Given the description of an element on the screen output the (x, y) to click on. 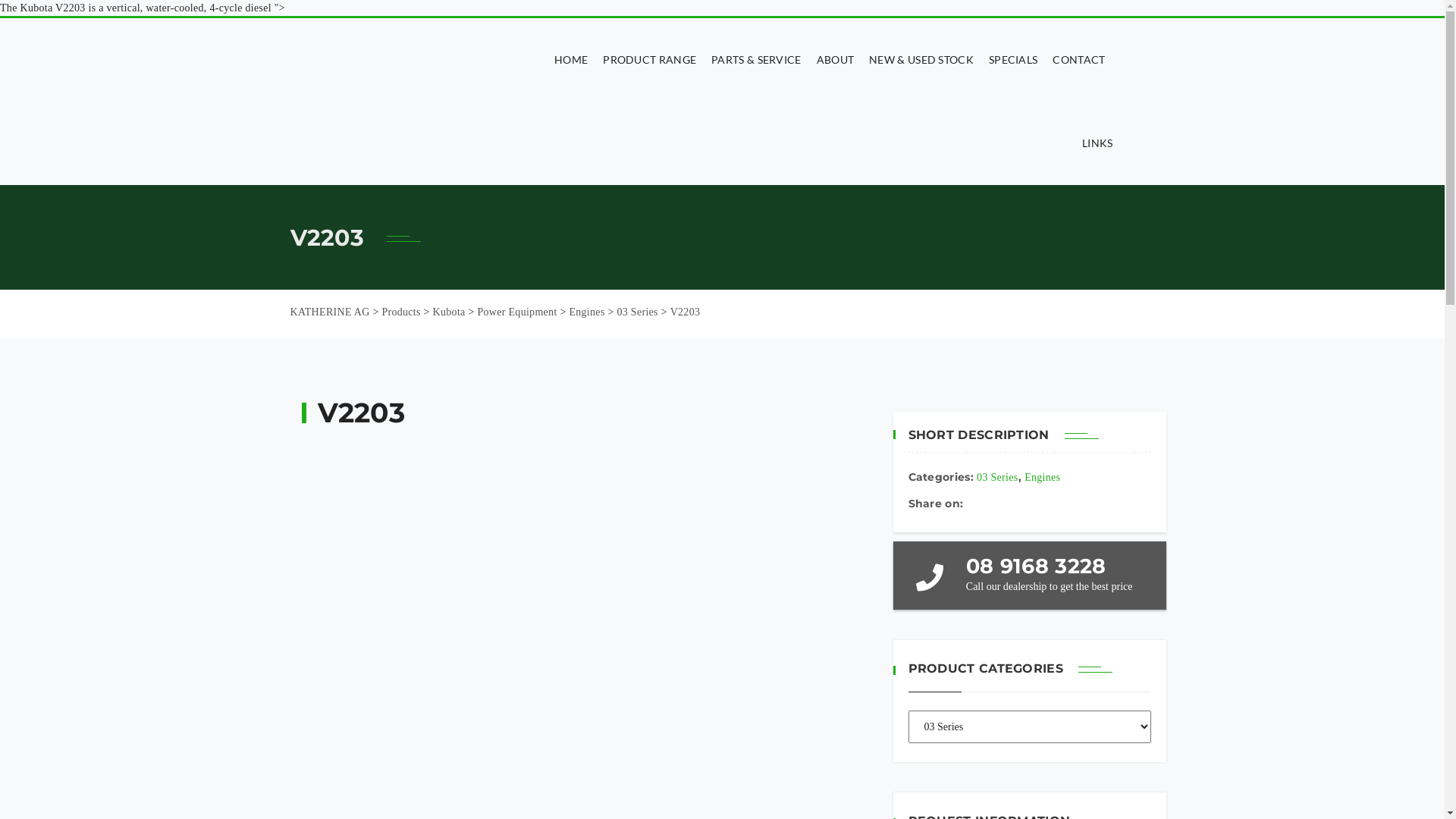
HOME Element type: text (570, 59)
03 Series Element type: text (996, 477)
Power Equipment Element type: text (516, 311)
Engines Element type: text (1042, 477)
SPECIALS Element type: text (1012, 59)
Engines Element type: text (586, 311)
Kubota Element type: text (449, 311)
Products Element type: text (400, 311)
NEW & USED STOCK Element type: text (921, 59)
ABOUT Element type: text (835, 59)
KATHERINE AG Element type: text (329, 311)
PARTS & SERVICE Element type: text (756, 59)
KATHERINE AG Element type: hover (389, 101)
03 Series Element type: text (636, 311)
PRODUCT RANGE Element type: text (649, 59)
CONTACT Element type: text (1078, 59)
LINKS Element type: text (1093, 143)
